Given the description of an element on the screen output the (x, y) to click on. 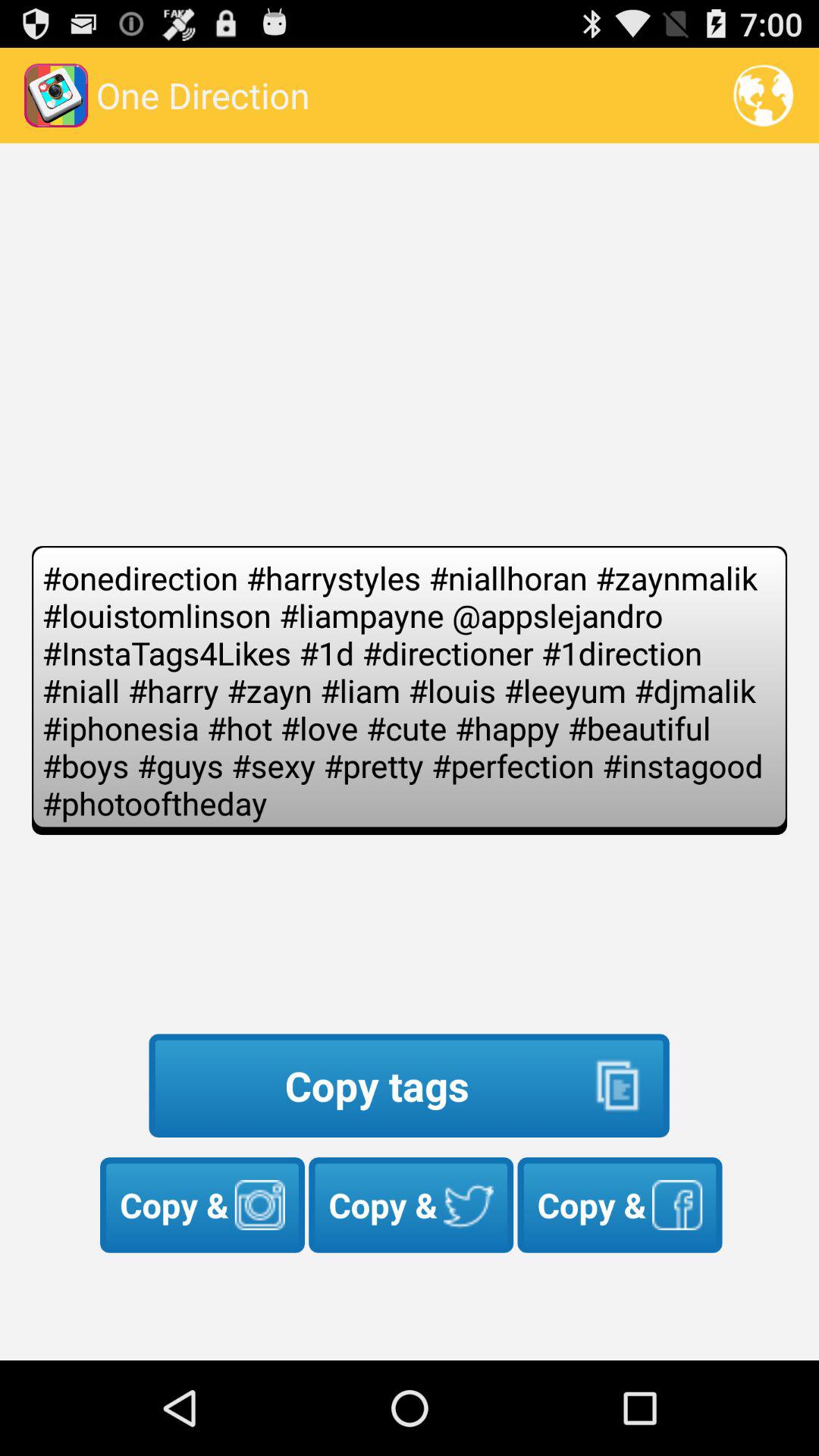
turn off the item above the onedirection harrystyles niallhoran icon (763, 95)
